Given the description of an element on the screen output the (x, y) to click on. 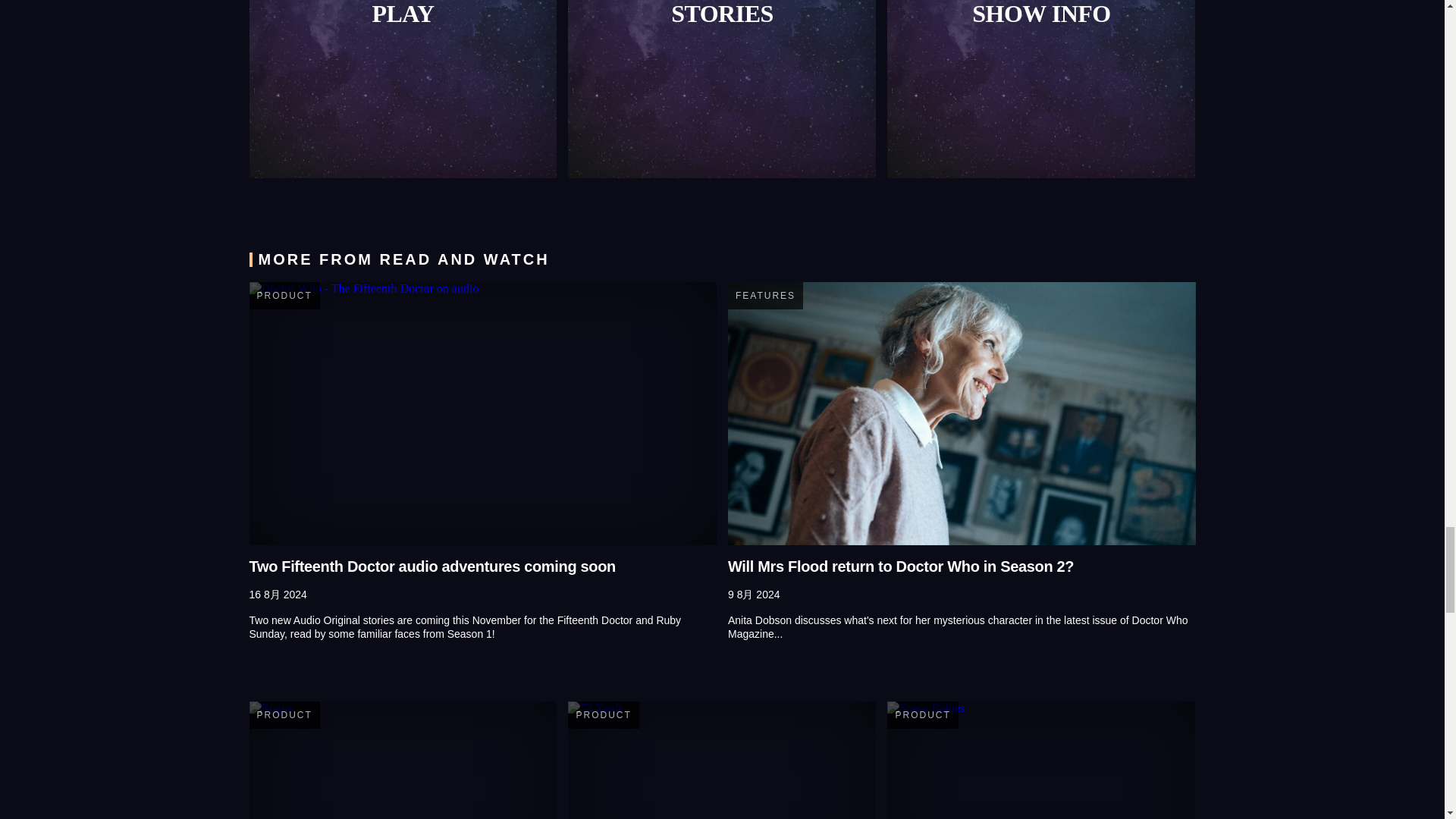
Two Fifteenth Doctor audio adventures coming soon (482, 413)
Space Babies (1040, 760)
Mrs Flood (961, 413)
Rogue (402, 760)
73 Yards (721, 760)
